Given the description of an element on the screen output the (x, y) to click on. 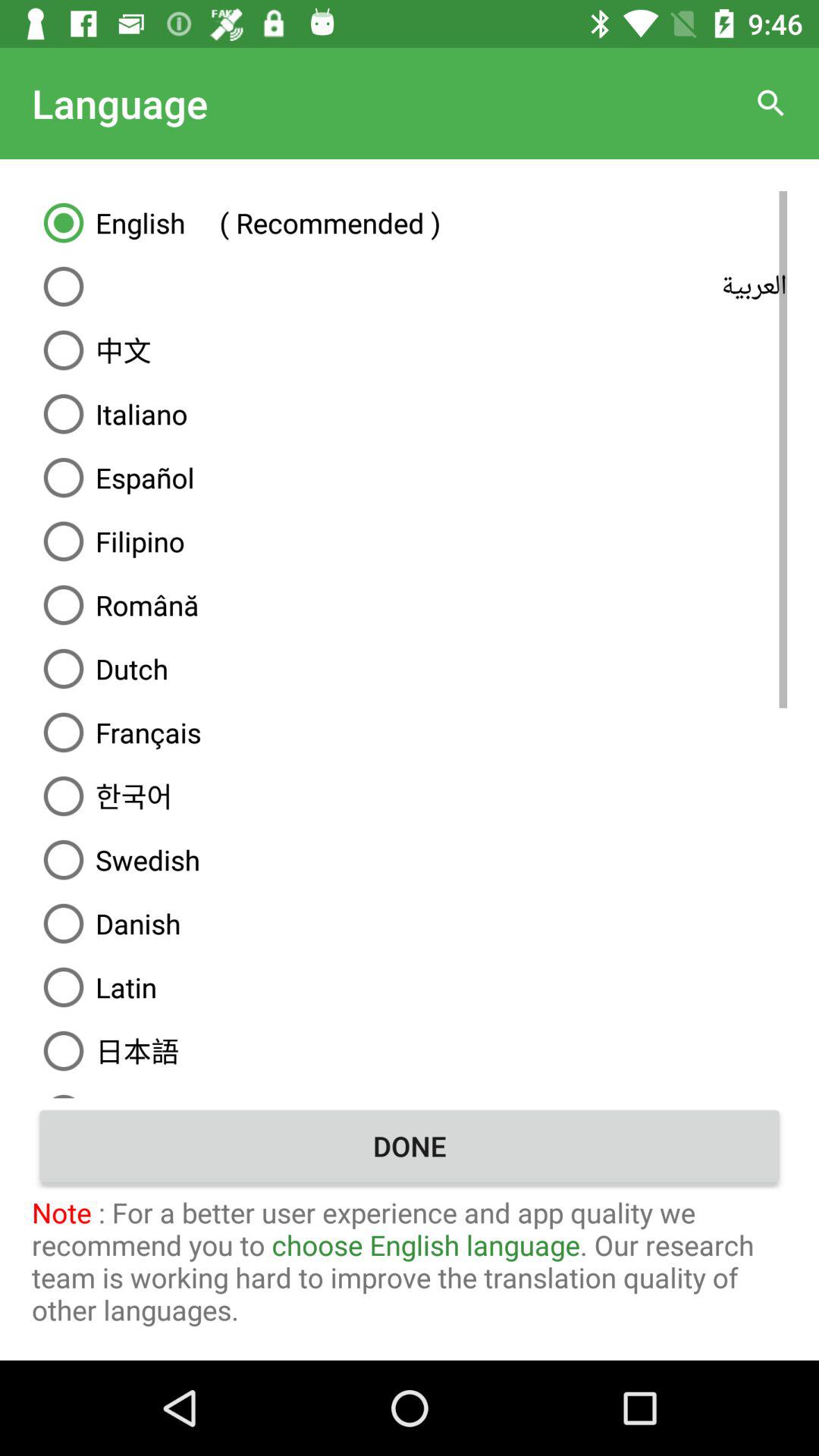
tap the item above dutch item (409, 605)
